Given the description of an element on the screen output the (x, y) to click on. 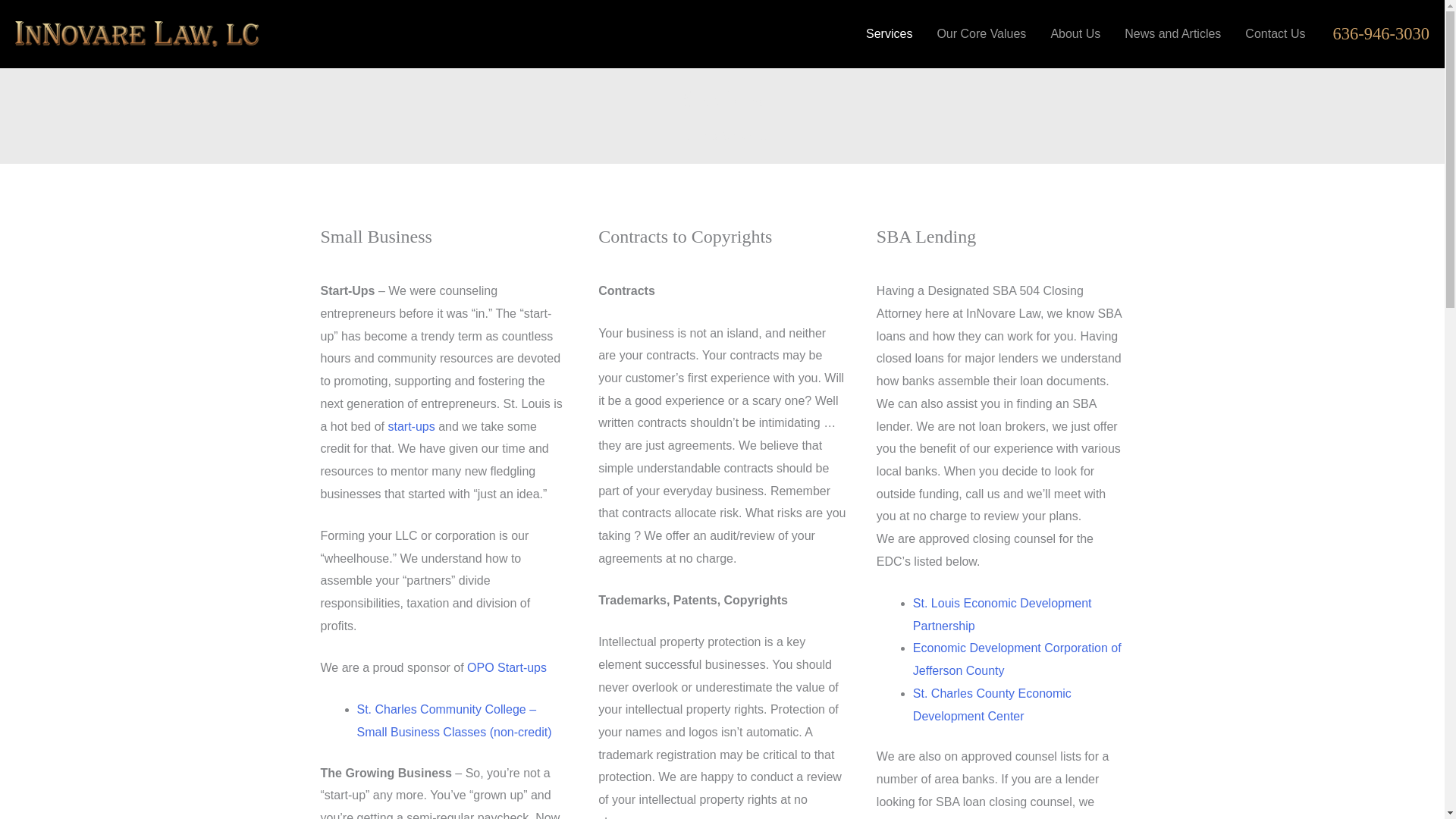
Economic Development Corporation of Jefferson County (1016, 659)
Our Core Values (981, 33)
Services (888, 33)
St. Charles County Economic Development Center (991, 704)
News and Articles (1172, 33)
St. Louis Economic Development Partnership (1002, 614)
start-ups (410, 426)
OPO Start-ups (507, 667)
Home (691, 135)
About Us (1075, 33)
Contact Us (1275, 33)
